Given the description of an element on the screen output the (x, y) to click on. 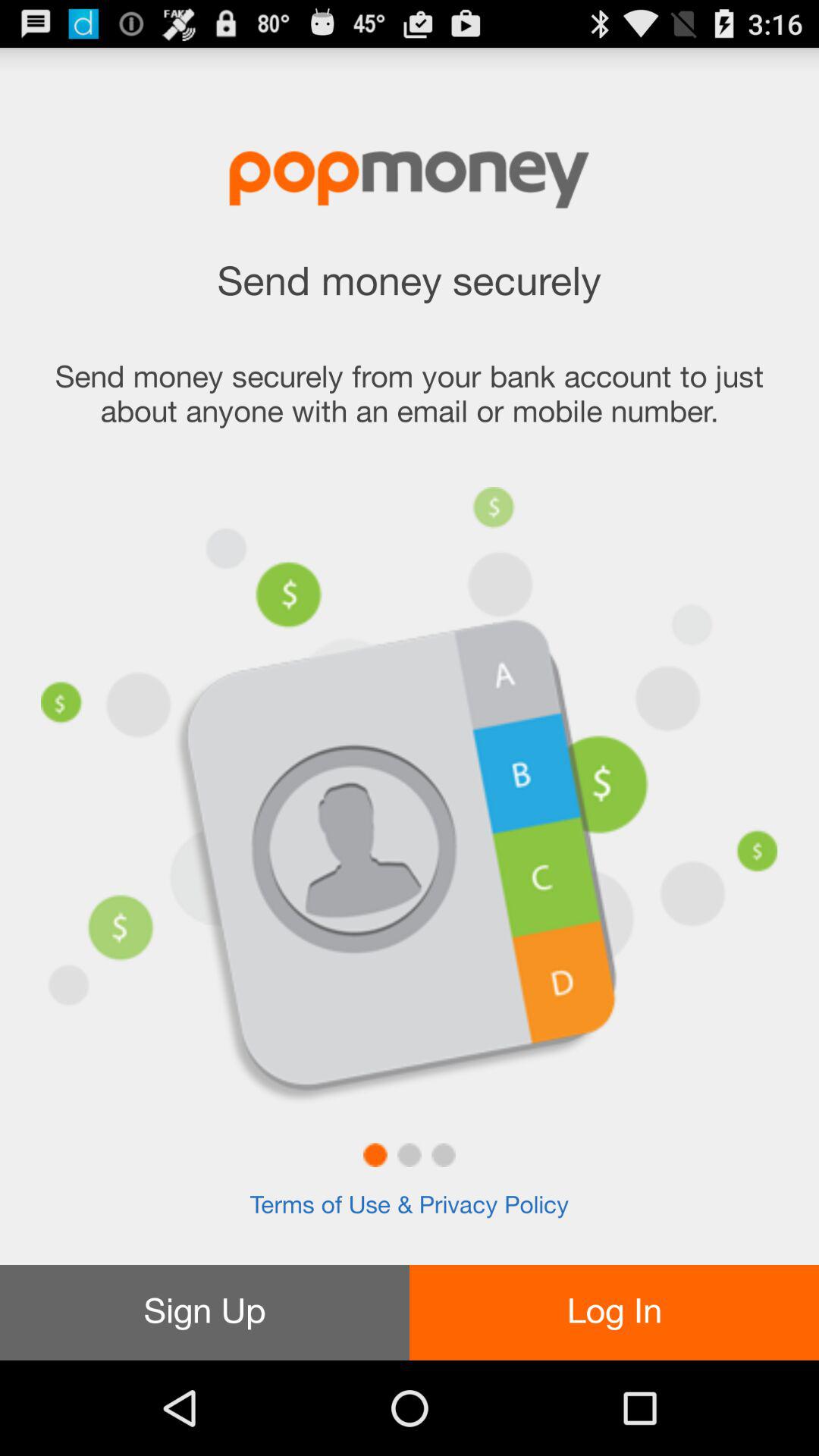
press sign up at the bottom left corner (204, 1312)
